Given the description of an element on the screen output the (x, y) to click on. 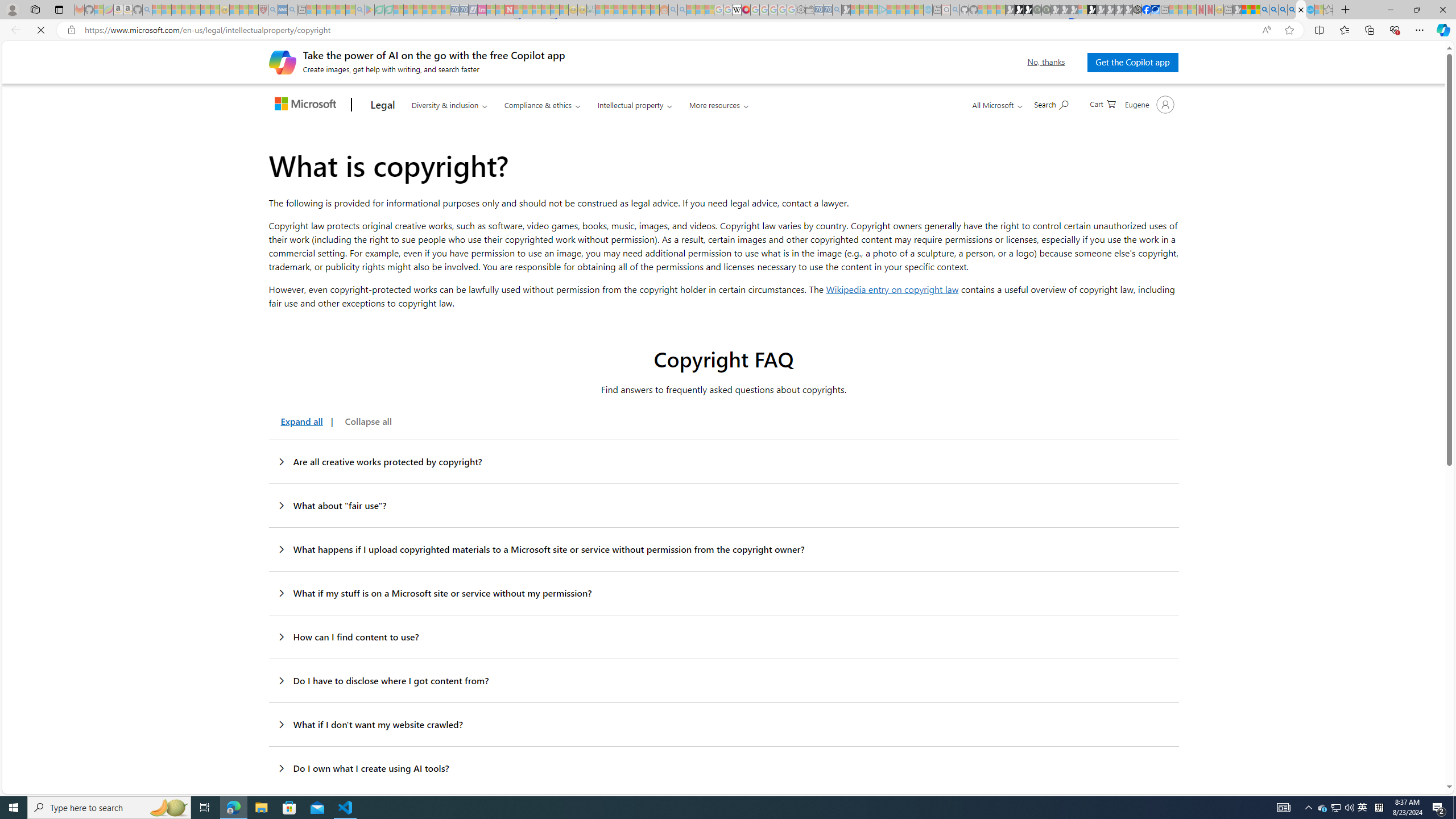
 Expand all (298, 421)
